Given the description of an element on the screen output the (x, y) to click on. 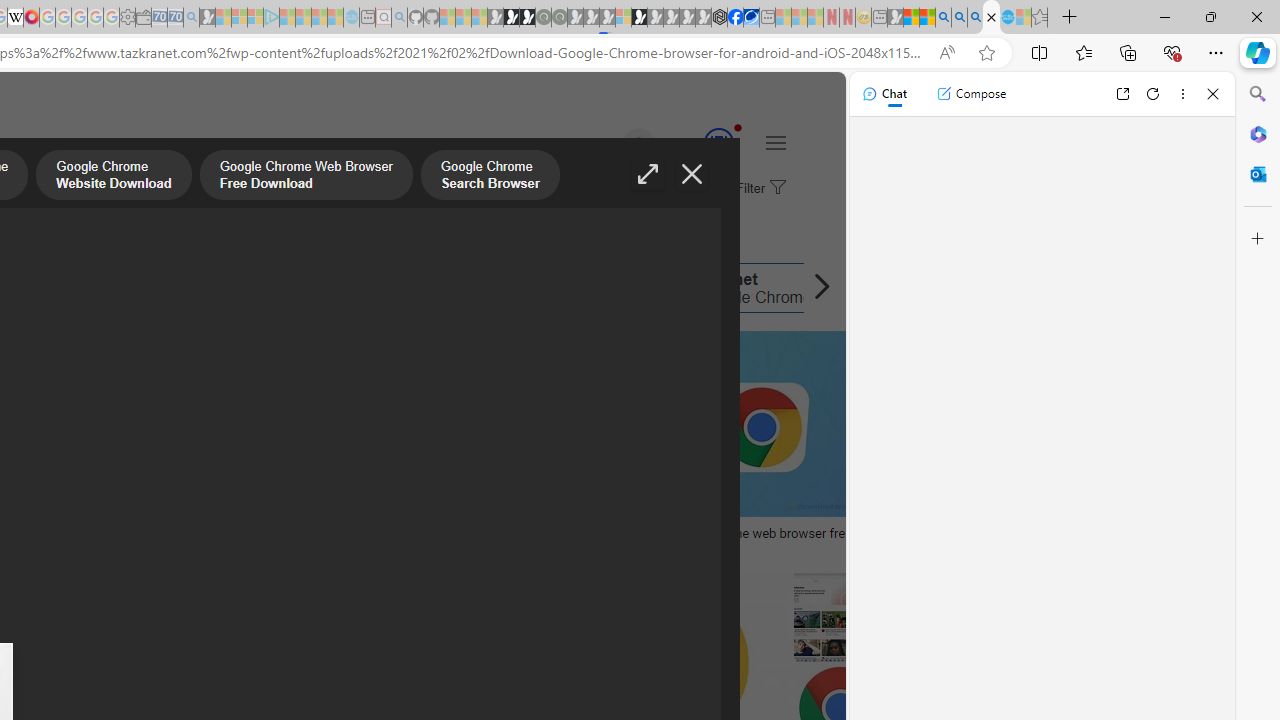
Latest Google Chrome Free Download (228, 287)
Animation (737, 127)
AutomationID: serp_medal_svg (718, 142)
Scroll right (816, 287)
Image result for Google Chrome Internet Browser Download (817, 423)
Internet Google Chrome (669, 287)
